Given the description of an element on the screen output the (x, y) to click on. 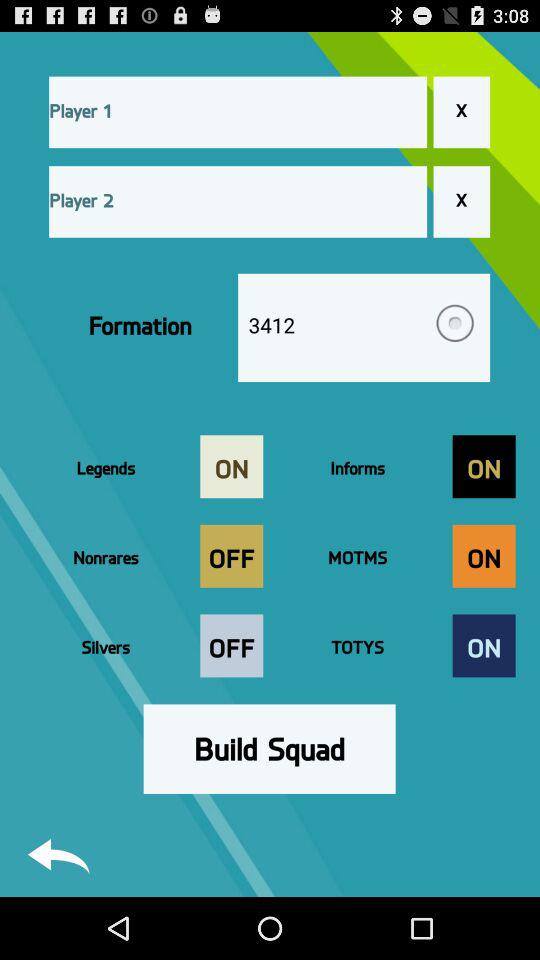
player 1 name (238, 111)
